Given the description of an element on the screen output the (x, y) to click on. 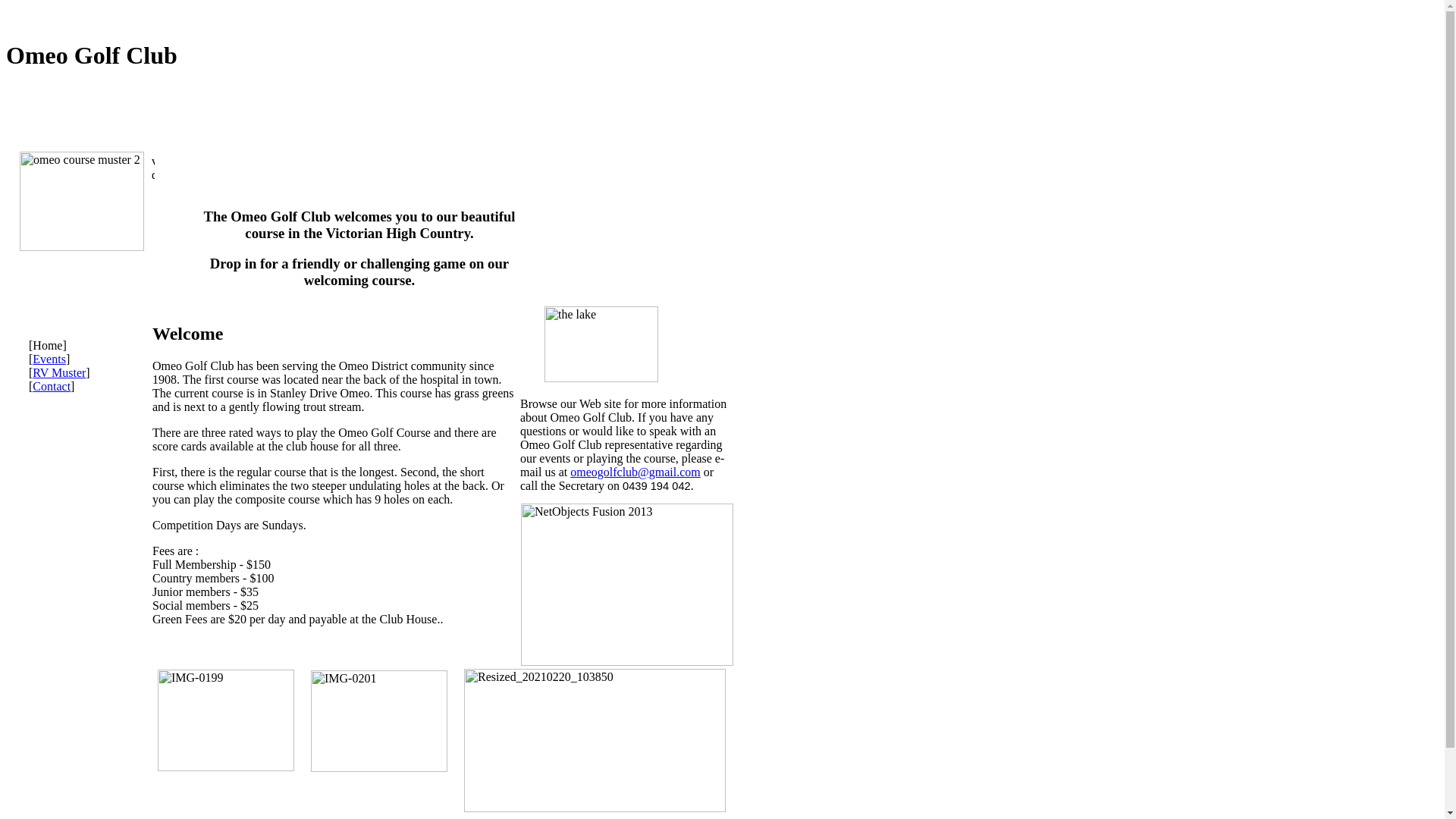
IMG-0199 Element type: hover (225, 720)
vertical-divider Element type: hover (152, 201)
Welcome Element type: hover (352, 169)
Events Element type: text (48, 358)
omeo course muster 2 Element type: hover (81, 201)
NetObjects Fusion 2013 Element type: hover (626, 584)
the lake Element type: hover (601, 344)
Contact Element type: text (51, 385)
RV Muster Element type: text (58, 372)
IMG-0201 Element type: hover (378, 720)
omeogolfclub@gmail.com Element type: text (635, 471)
Resized_20210220_103850 Element type: hover (594, 740)
